Given the description of an element on the screen output the (x, y) to click on. 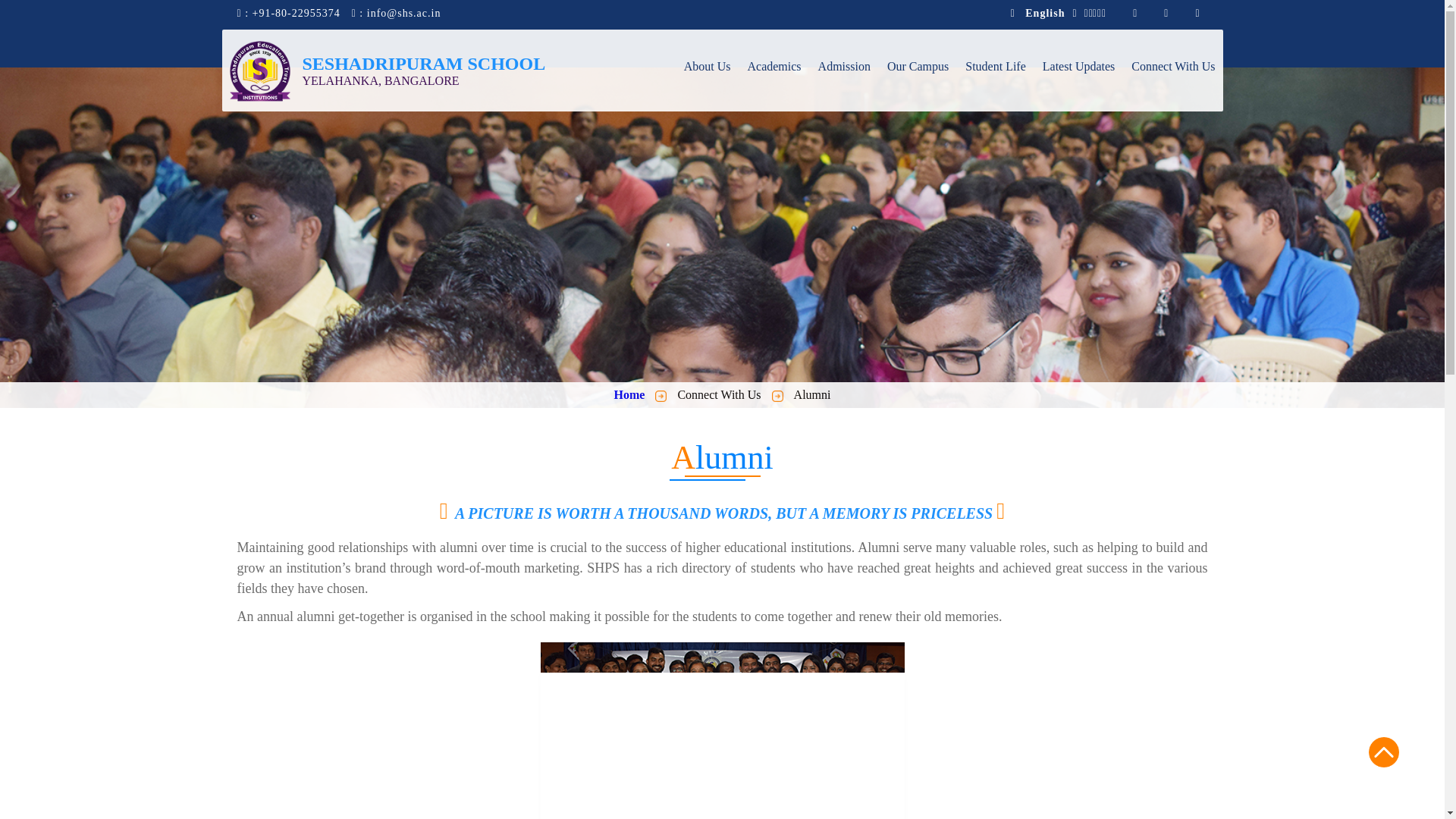
Our Campus (917, 81)
Admission (844, 81)
Academics (775, 81)
English (1044, 12)
Student Life (995, 81)
Academics (775, 81)
About Us (707, 81)
About Us (707, 81)
Admission (844, 81)
